Given the description of an element on the screen output the (x, y) to click on. 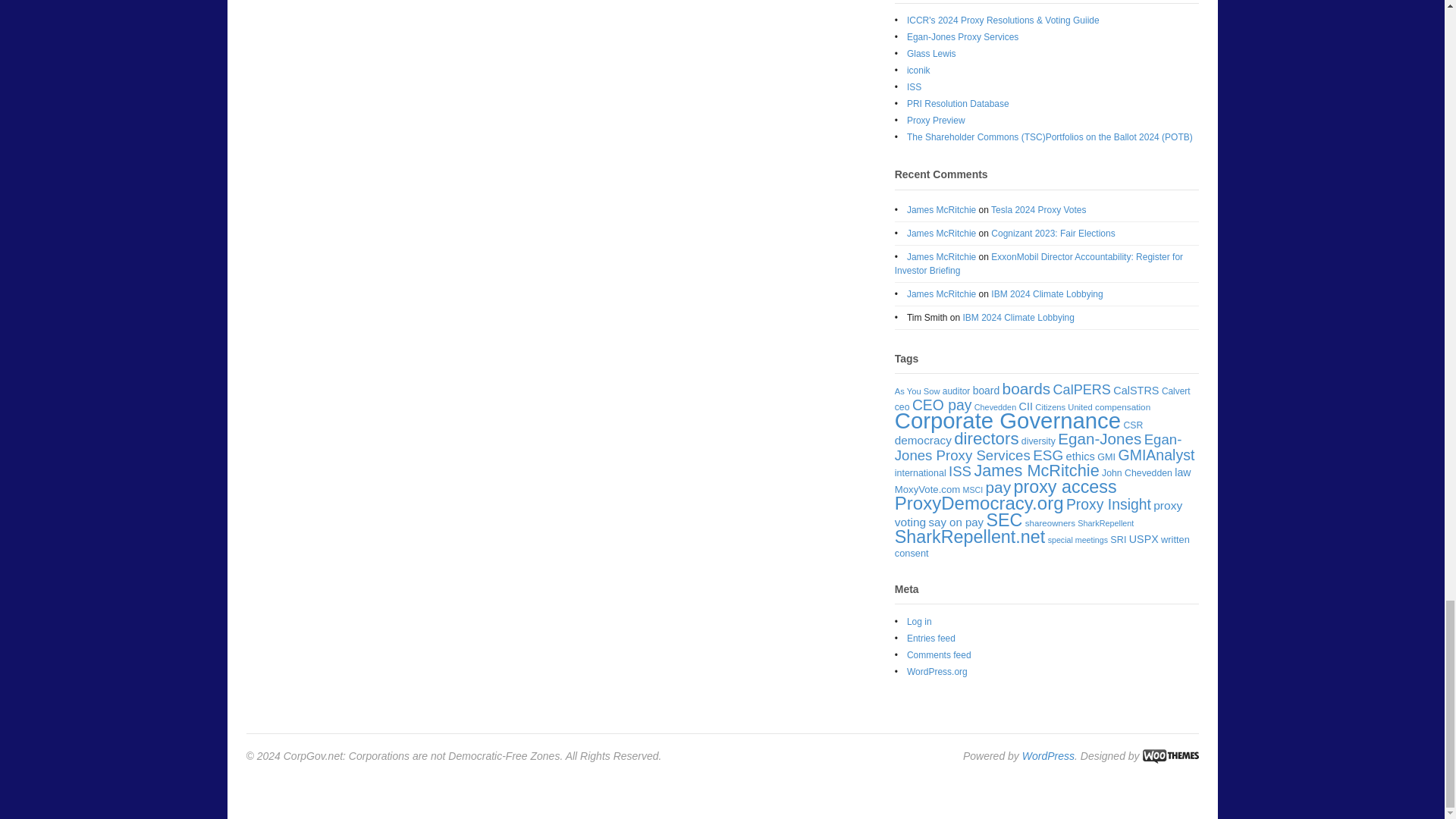
WordPress (1048, 756)
